Given the description of an element on the screen output the (x, y) to click on. 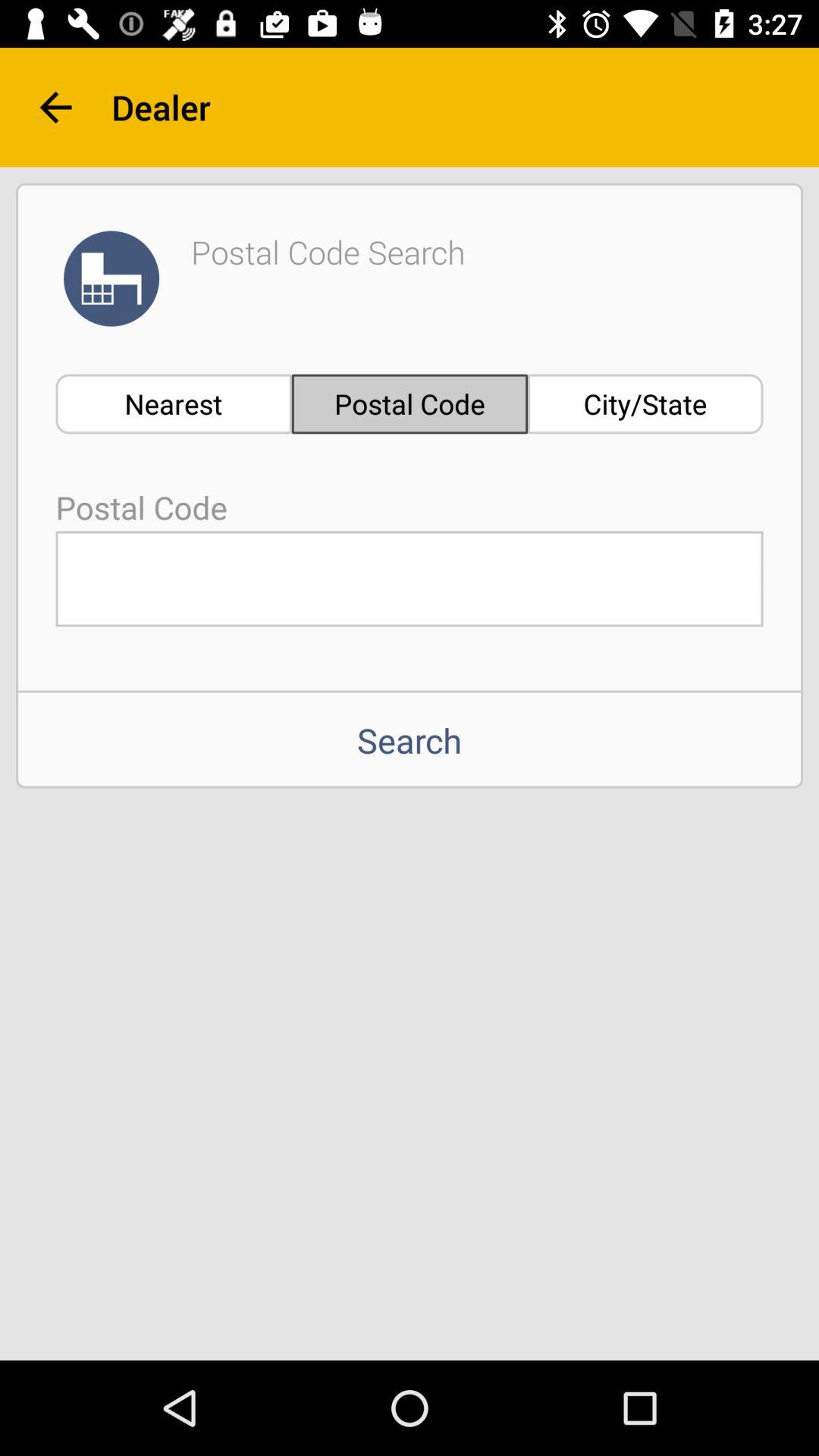
launch the item to the left of the dealer icon (55, 107)
